Given the description of an element on the screen output the (x, y) to click on. 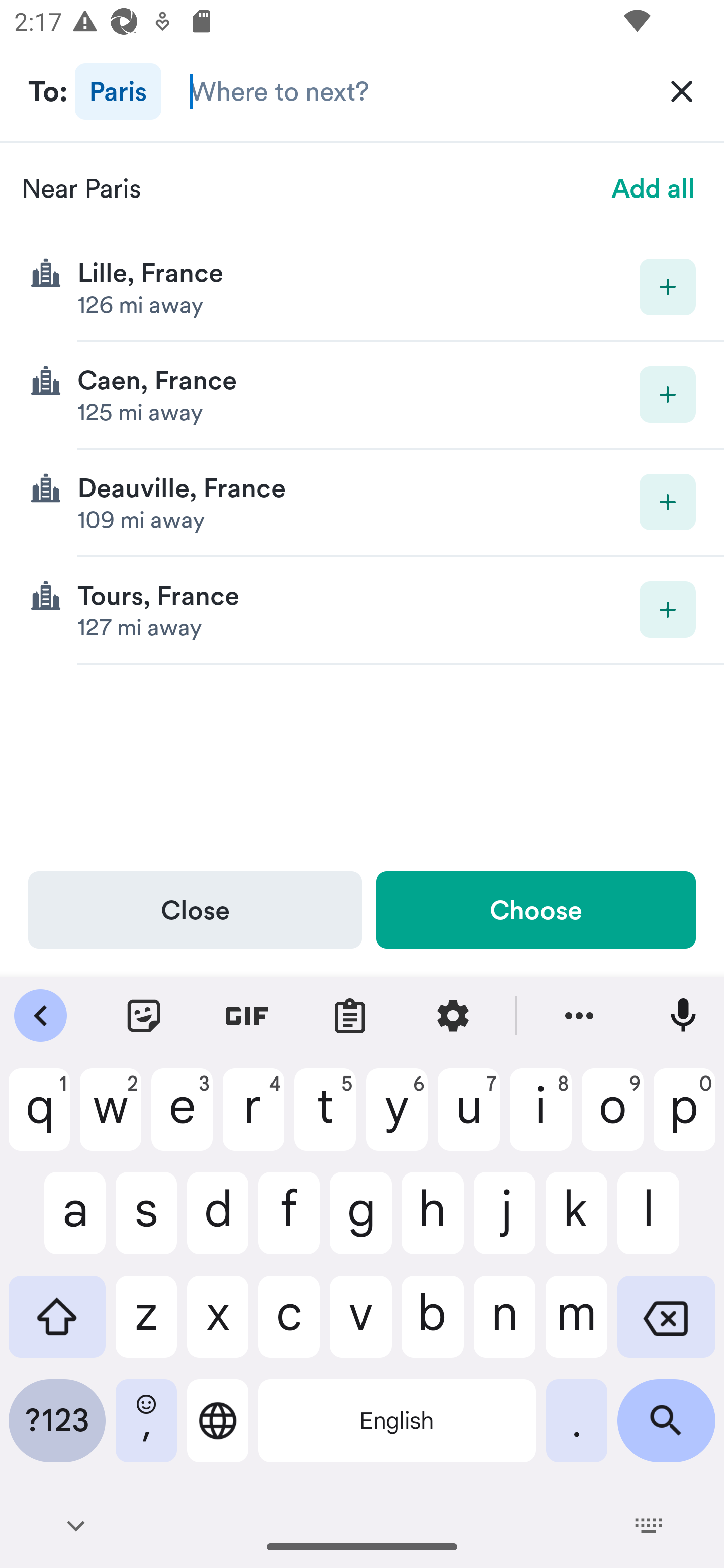
Paris (117, 90)
Clear All (681, 90)
Add all (653, 187)
Add destination Lille, France 126 mi away (362, 287)
Add destination (667, 286)
Add destination Caen, France 125 mi away (362, 395)
Add destination (667, 394)
Add destination Deauville, France 109 mi away (362, 503)
Add destination (667, 501)
Add destination Tours, France 127 mi away (362, 610)
Add destination (667, 609)
Close (195, 909)
Choose (535, 909)
